Given the description of an element on the screen output the (x, y) to click on. 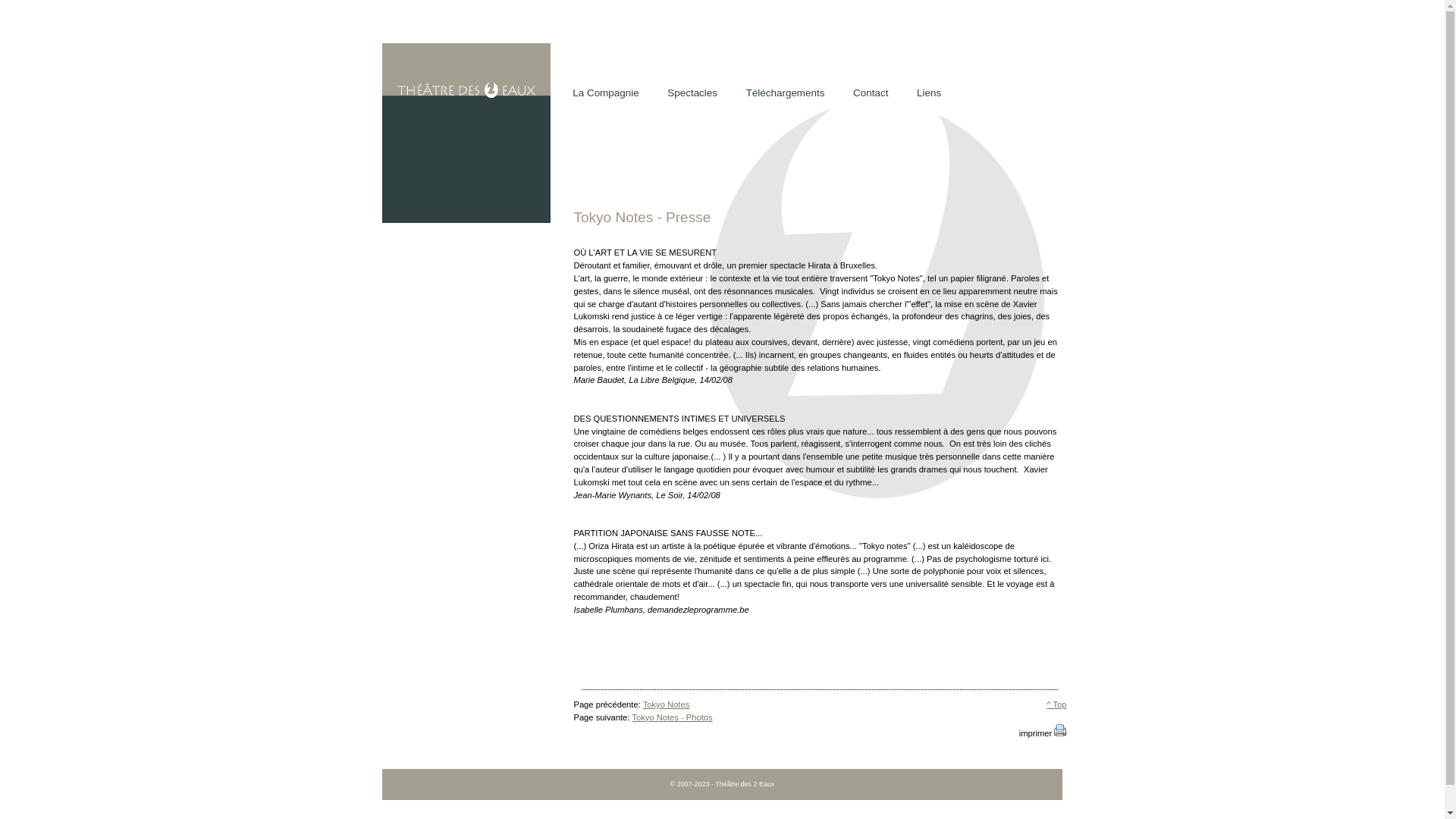
Tokyo Notes - Photos Element type: text (671, 716)
Contact Element type: text (870, 93)
Liens Element type: text (928, 93)
Spectacles Element type: text (691, 93)
La Compagnie Element type: text (605, 93)
^ Top Element type: text (1056, 704)
Tokyo Notes Element type: text (666, 704)
